Given the description of an element on the screen output the (x, y) to click on. 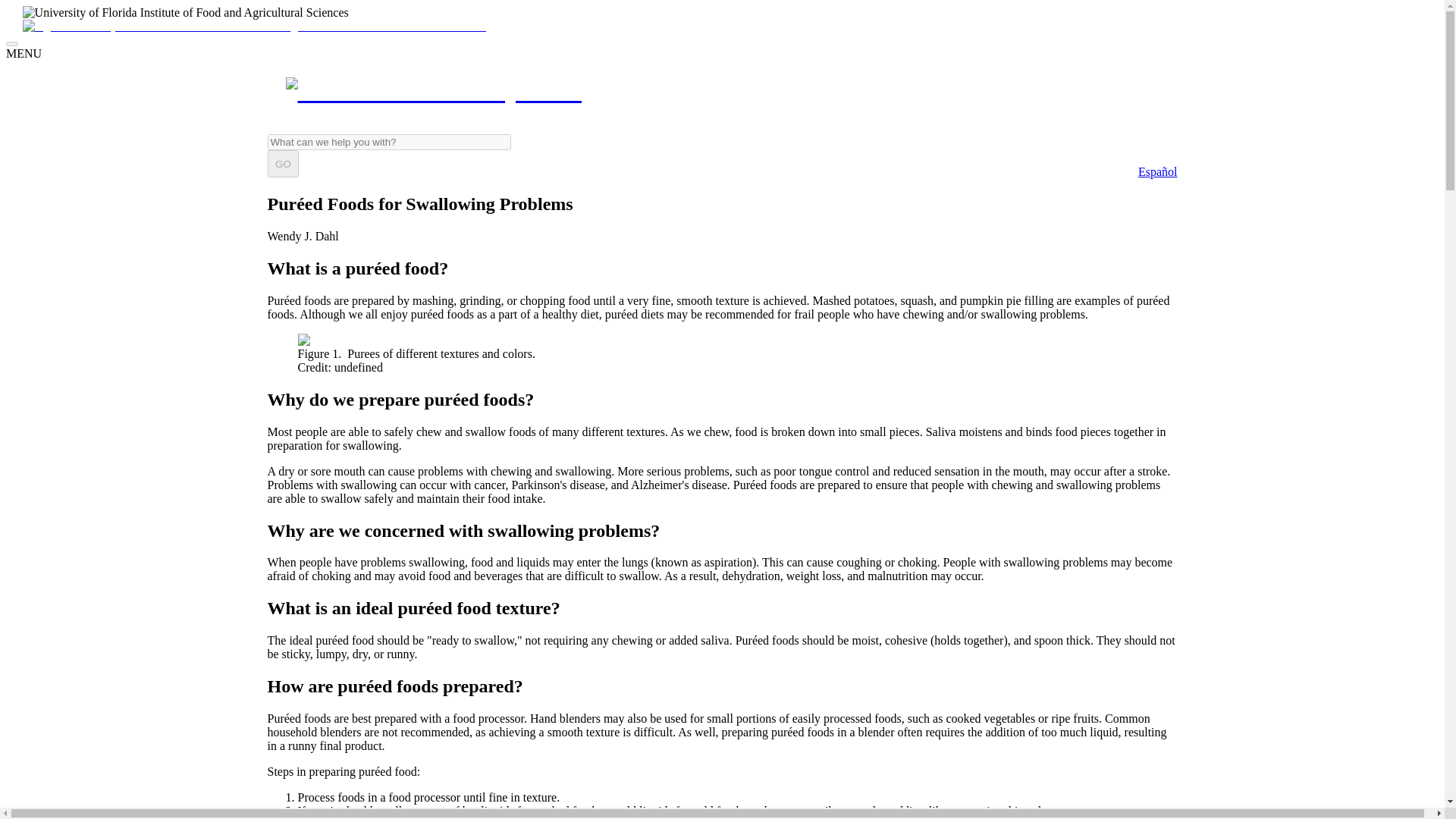
GO (282, 163)
AskIFAS Powered by EDIS (432, 90)
AskIFAS Powered by EDIS (721, 90)
EDIS Search (388, 141)
GO (282, 163)
